Given the description of an element on the screen output the (x, y) to click on. 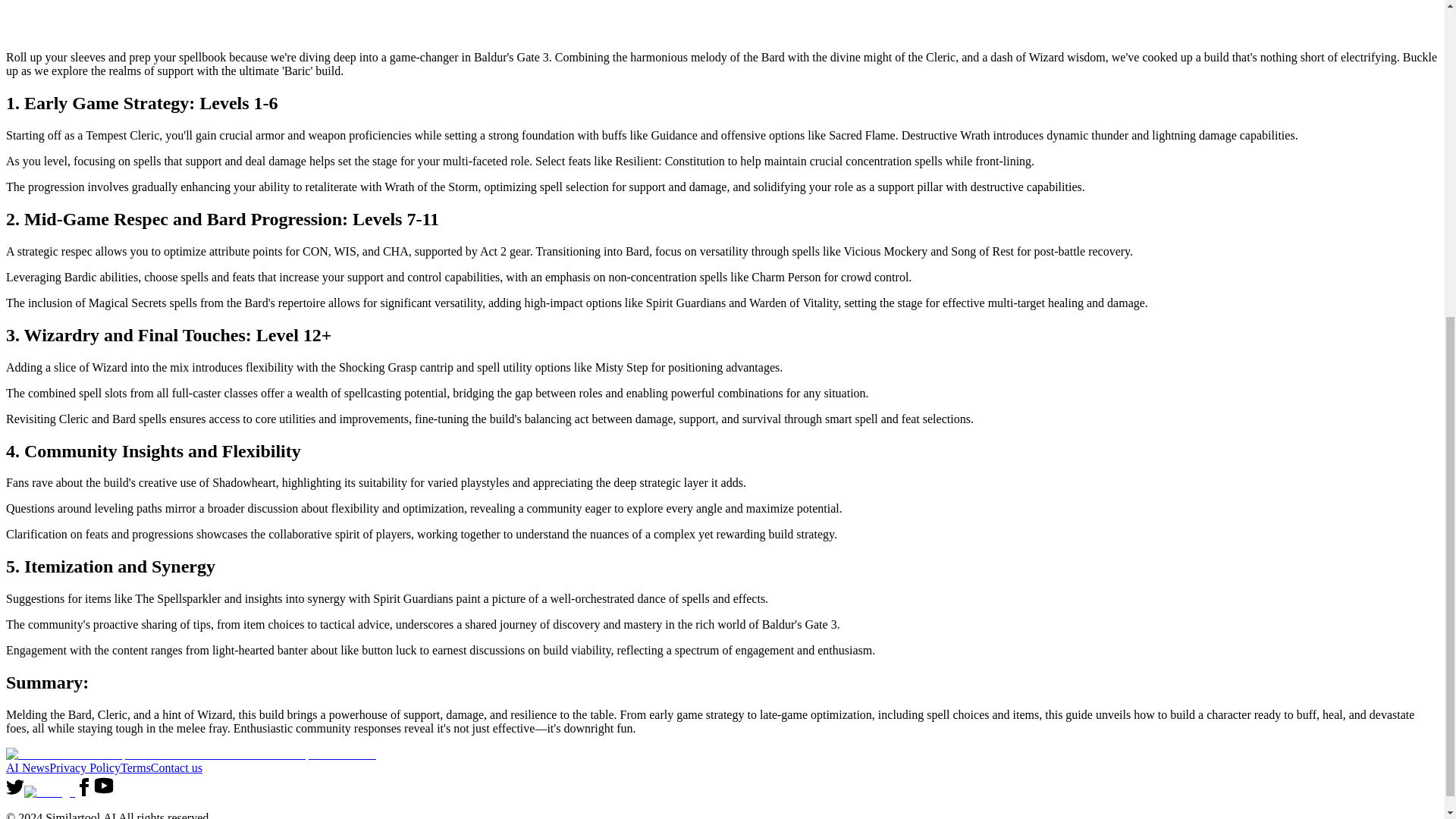
AI News (27, 767)
Privacy Policy (84, 767)
Contact us (176, 767)
Terms (135, 767)
